Given the description of an element on the screen output the (x, y) to click on. 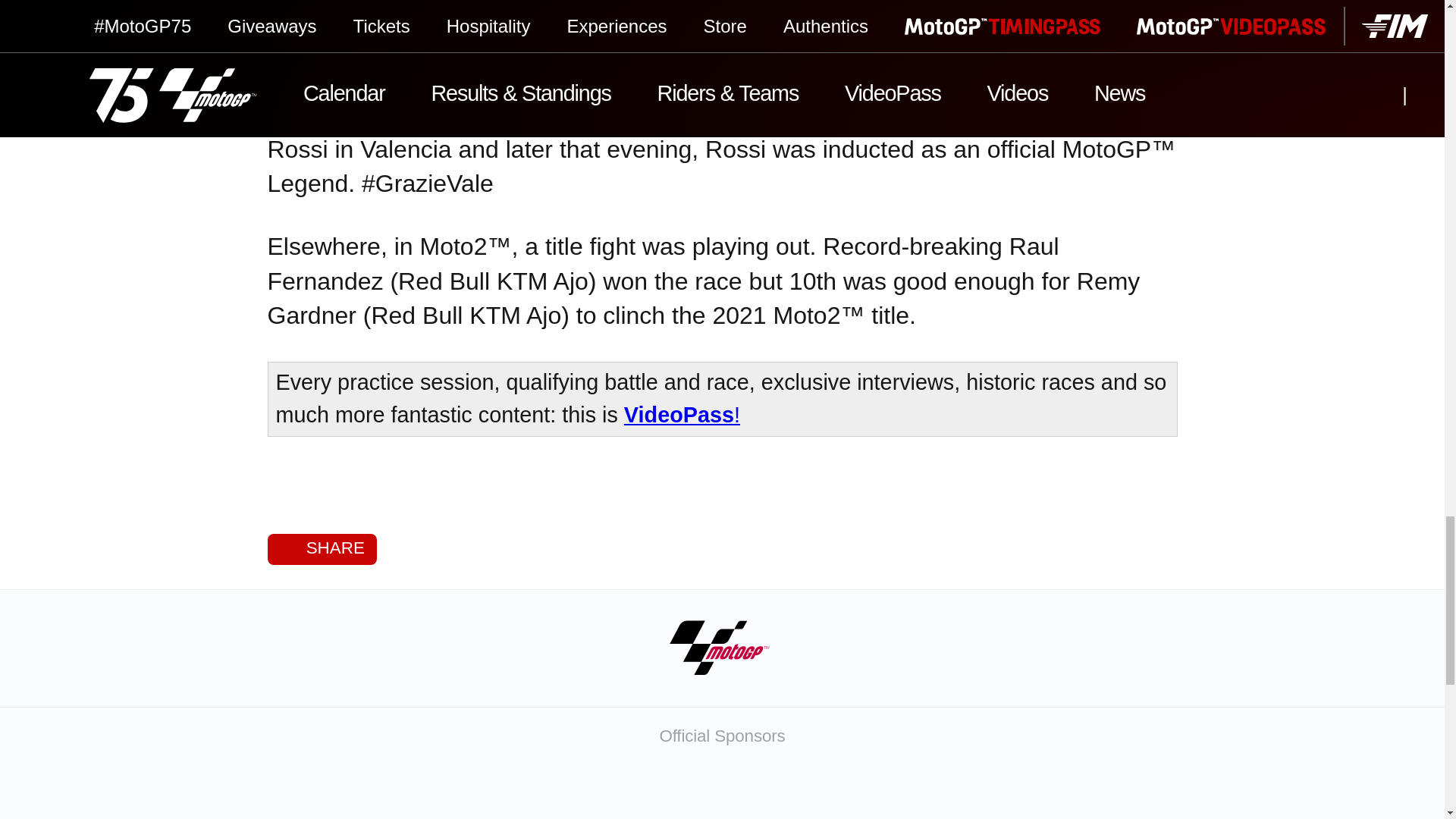
DHL (1122, 787)
QATAR (321, 787)
MICHELIN (642, 787)
BMW M (802, 787)
ESTRELLA GALICIA (962, 787)
TISSOT (481, 787)
